Given the description of an element on the screen output the (x, y) to click on. 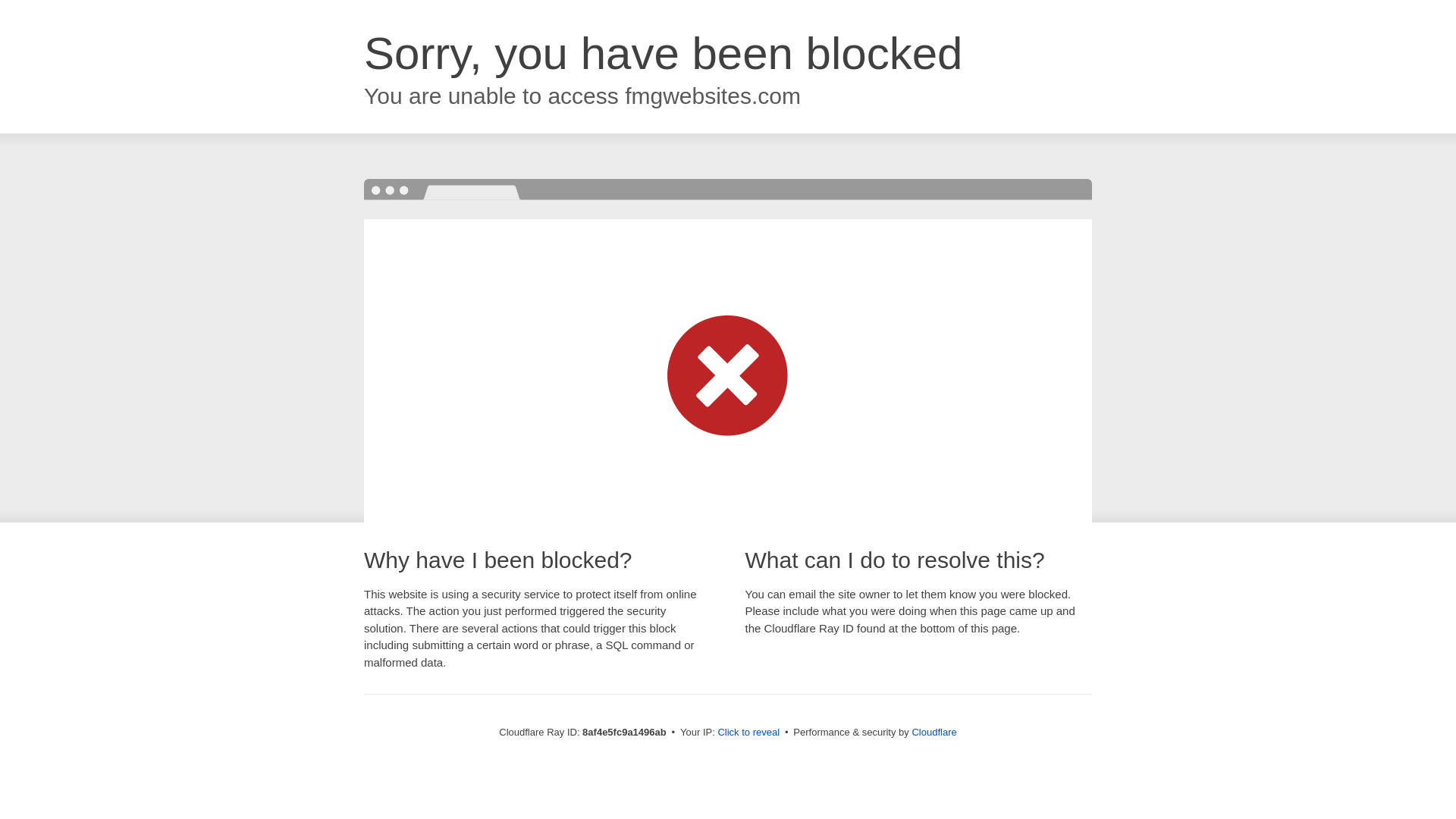
Click to reveal (747, 732)
Cloudflare (933, 731)
